Given the description of an element on the screen output the (x, y) to click on. 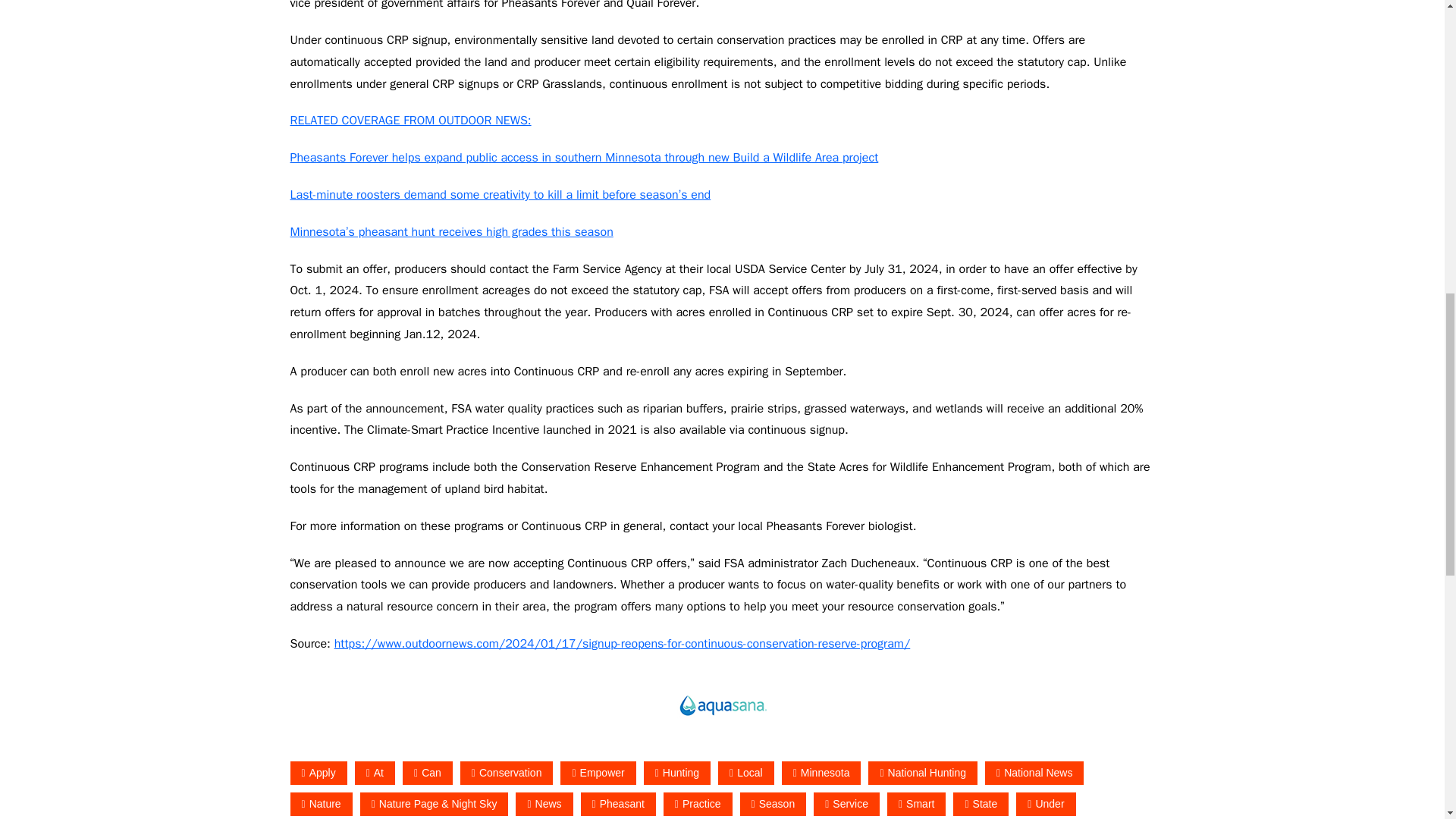
National News (1034, 772)
Local (745, 772)
Under (1045, 803)
News (543, 803)
Nature (320, 803)
Can (427, 772)
Empower (597, 772)
Season (772, 803)
Service (846, 803)
National Hunting (921, 772)
